Given the description of an element on the screen output the (x, y) to click on. 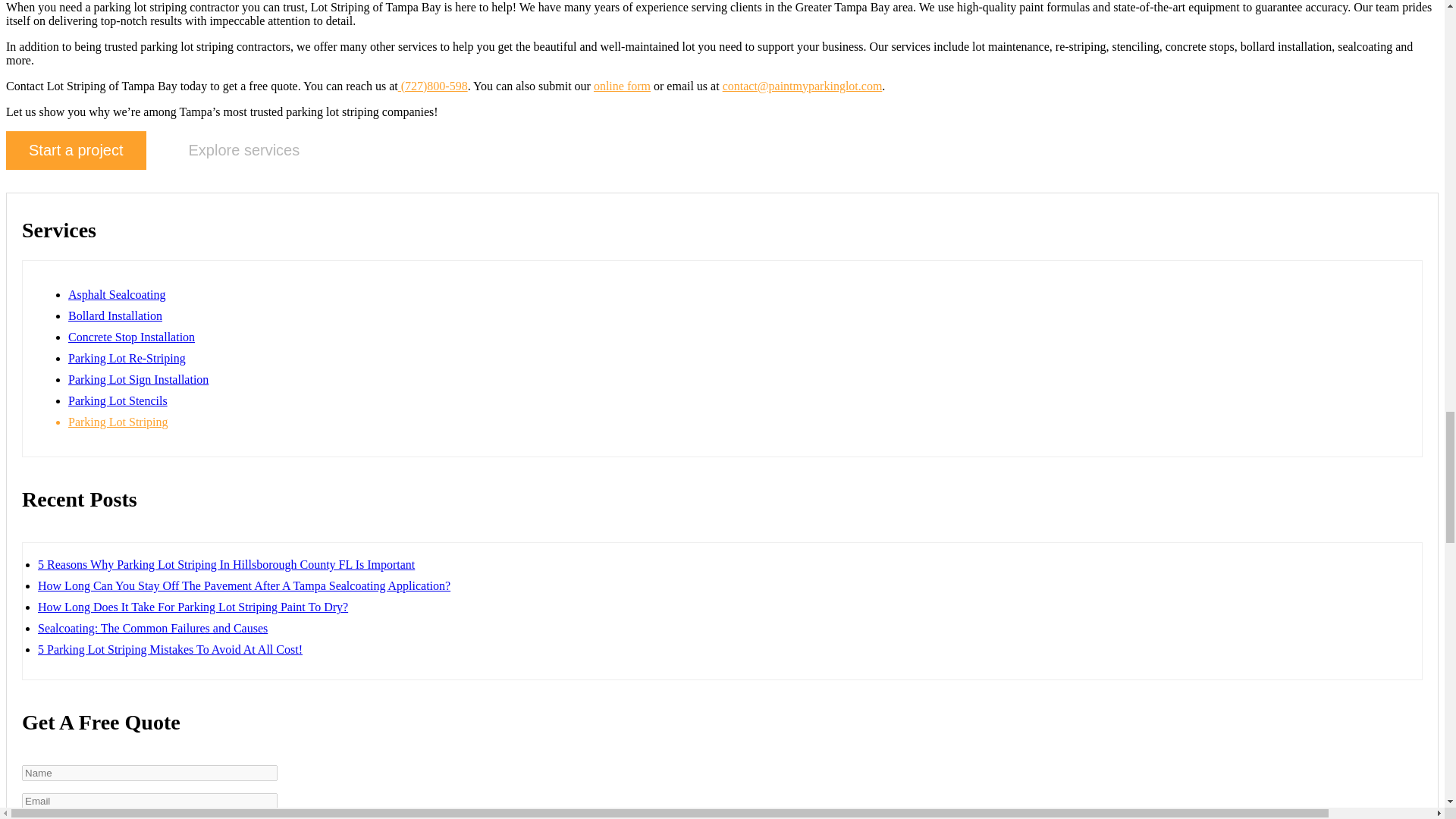
Asphalt Sealcoating (116, 294)
Start a project (76, 150)
Parking Lot Sign Installation (138, 379)
Sealcoating: The Common Failures and Causes (152, 627)
online form (622, 85)
Parking Lot Re-Striping (127, 358)
Explore services (244, 151)
Parking Lot Stencils (117, 400)
5 Parking Lot Striping Mistakes To Avoid At All Cost! (169, 649)
Bollard Installation (114, 315)
Concrete Stop Installation (131, 336)
Parking Lot Striping (118, 421)
How Long Does It Take For Parking Lot Striping Paint To Dry? (192, 606)
